Given the description of an element on the screen output the (x, y) to click on. 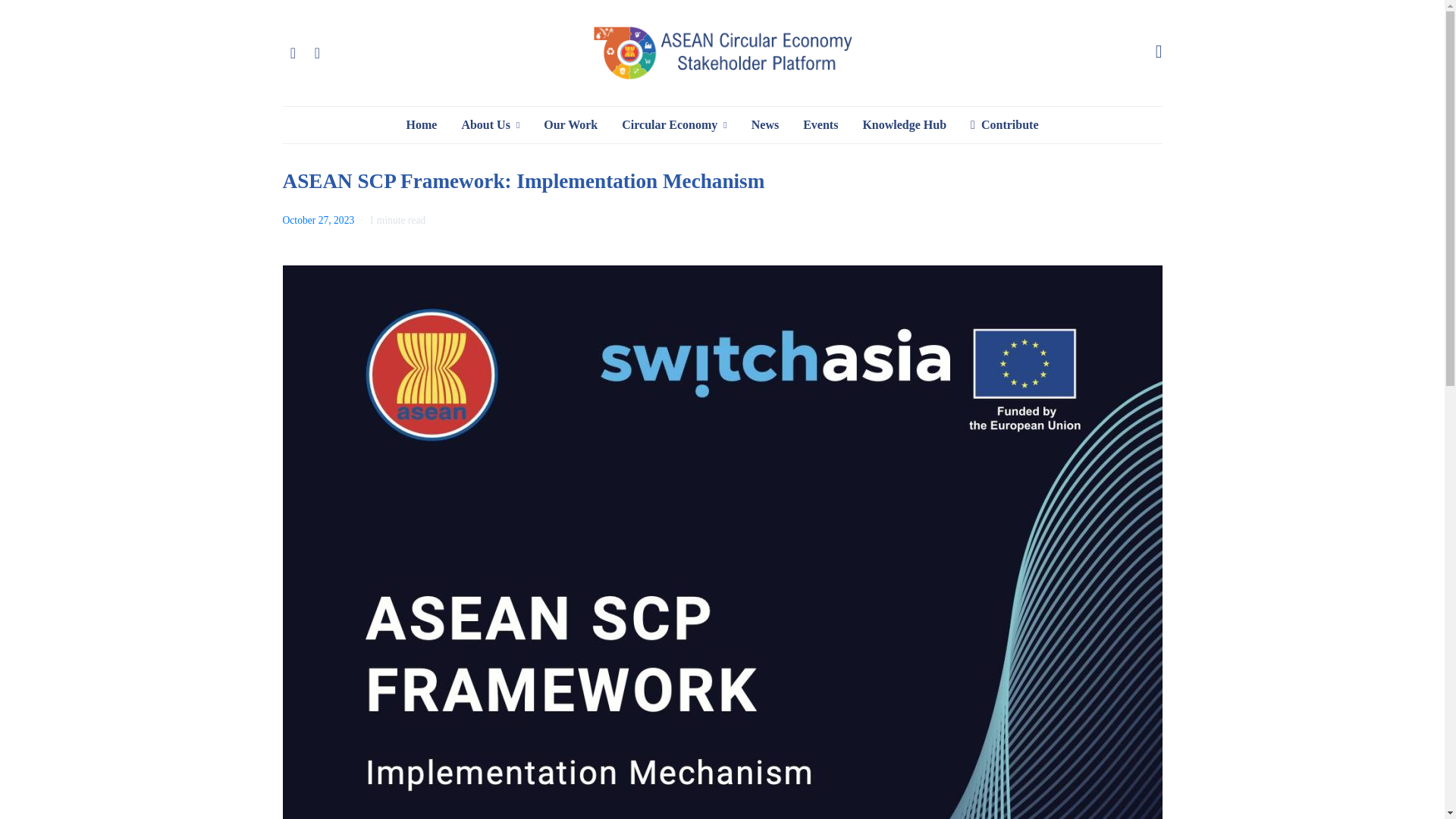
Contribute (1004, 125)
October 27, 2023 (317, 220)
About Us (490, 125)
Circular Economy (673, 125)
Events (820, 125)
Our Work (569, 125)
Knowledge Hub (903, 125)
